Given the description of an element on the screen output the (x, y) to click on. 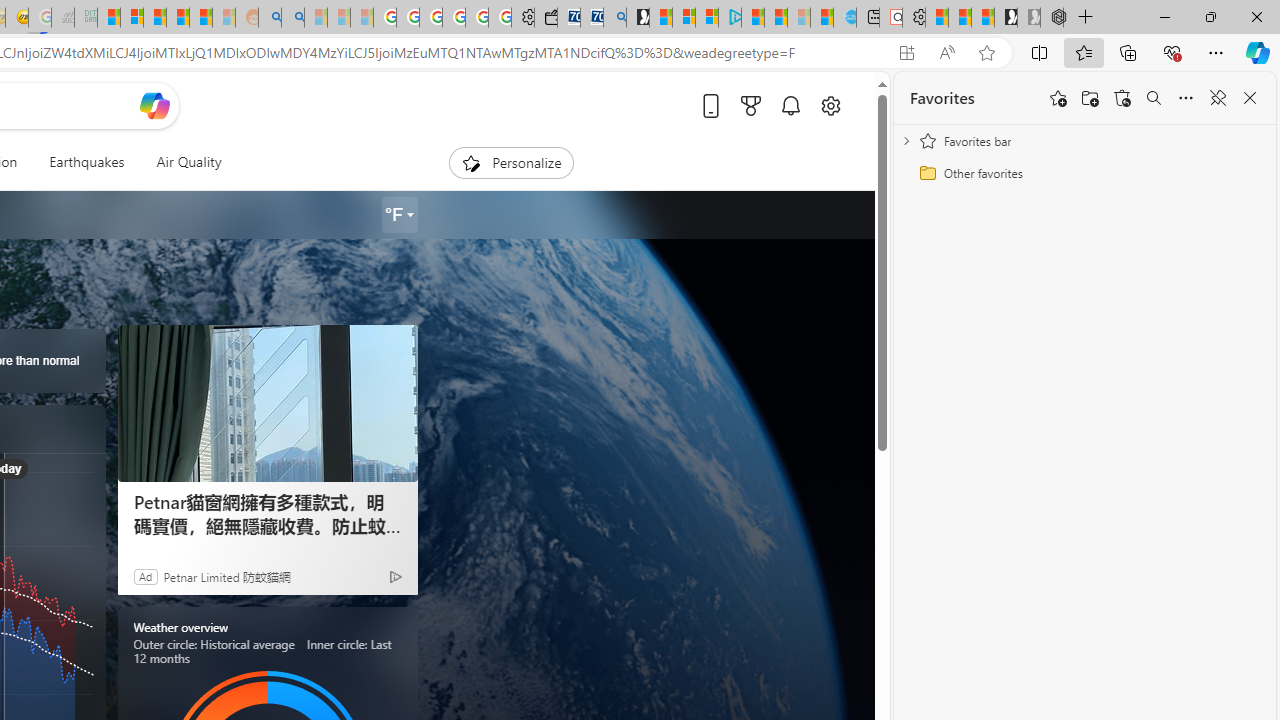
Air Quality (188, 162)
Wallet (545, 17)
Weather settings (399, 215)
Bing Real Estate - Home sales and rental listings (614, 17)
Search favorites (1153, 98)
